Given the description of an element on the screen output the (x, y) to click on. 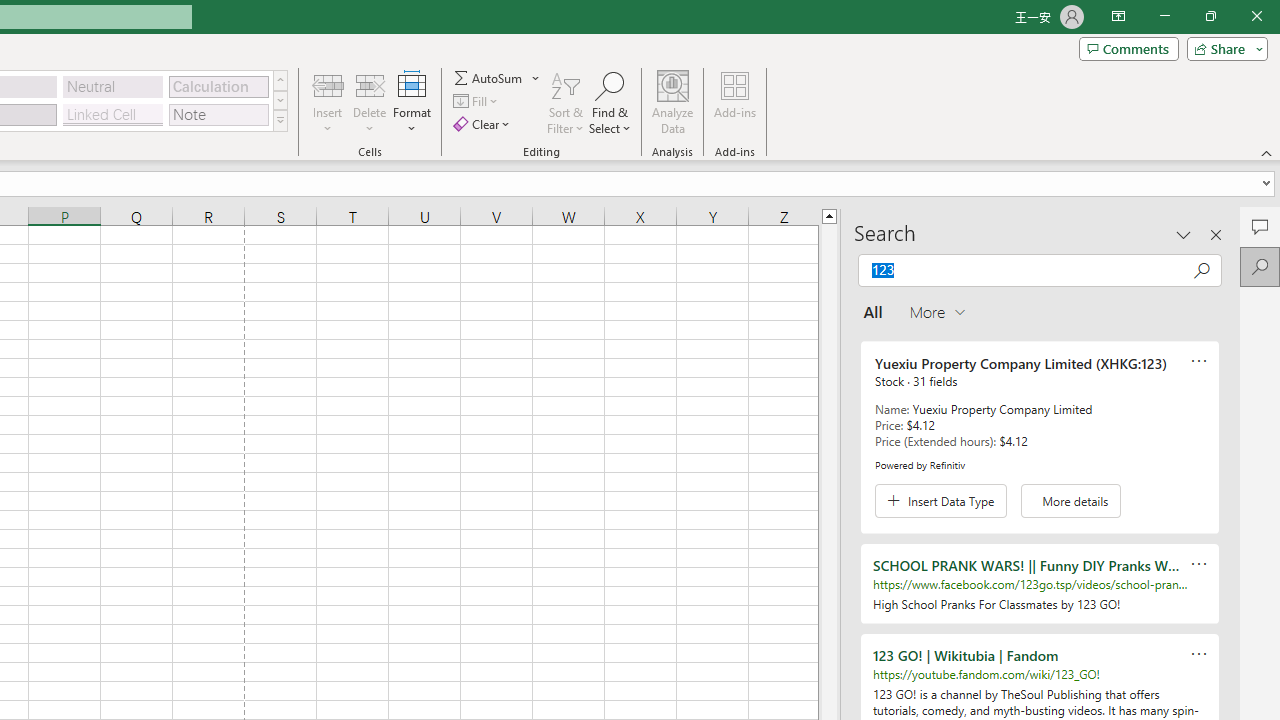
Sum (489, 78)
Calculation (218, 86)
Cell Styles (280, 120)
Sort & Filter (566, 102)
Find & Select (610, 102)
Note (218, 114)
Insert Cells (328, 84)
Delete (369, 102)
